Given the description of an element on the screen output the (x, y) to click on. 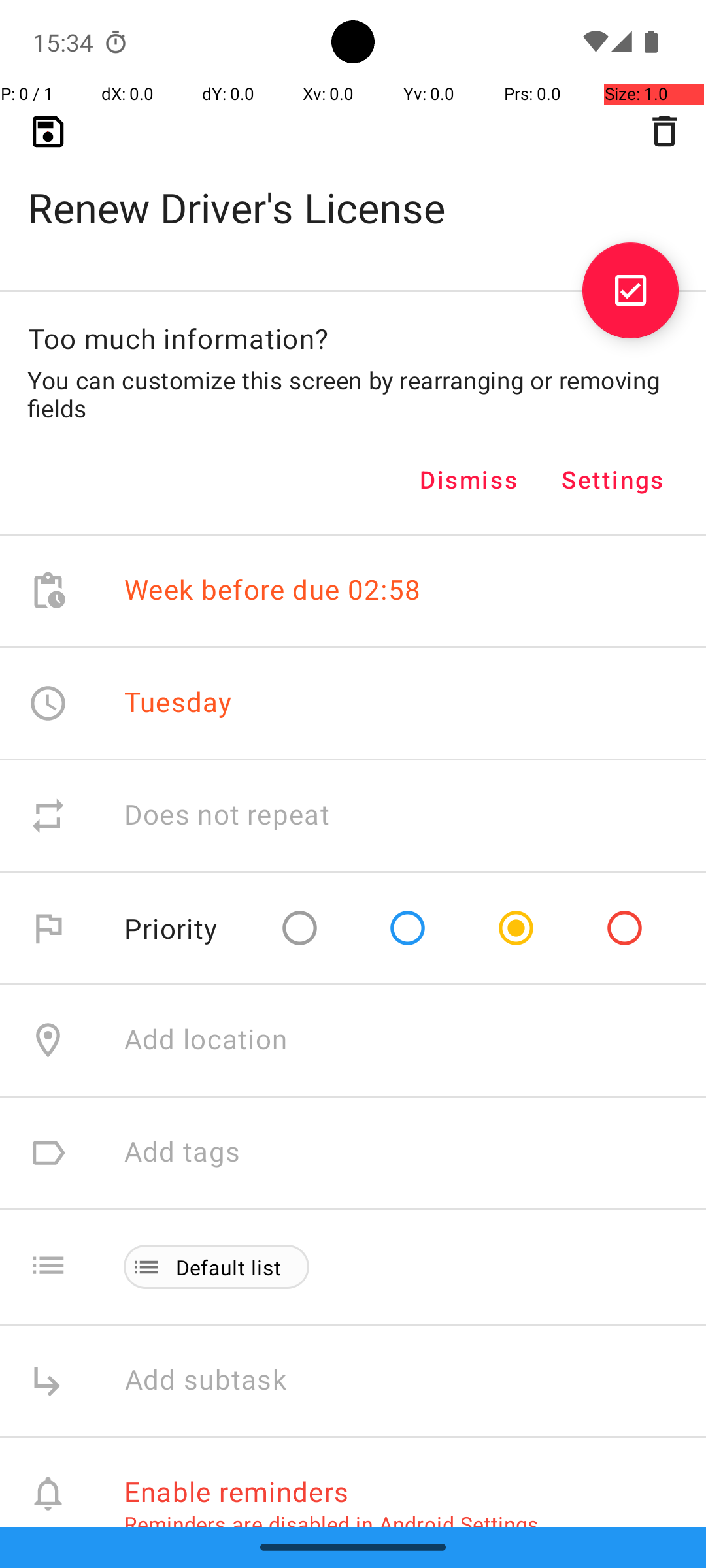
Week before due 02:58 Element type: android.widget.TextView (272, 590)
